Given the description of an element on the screen output the (x, y) to click on. 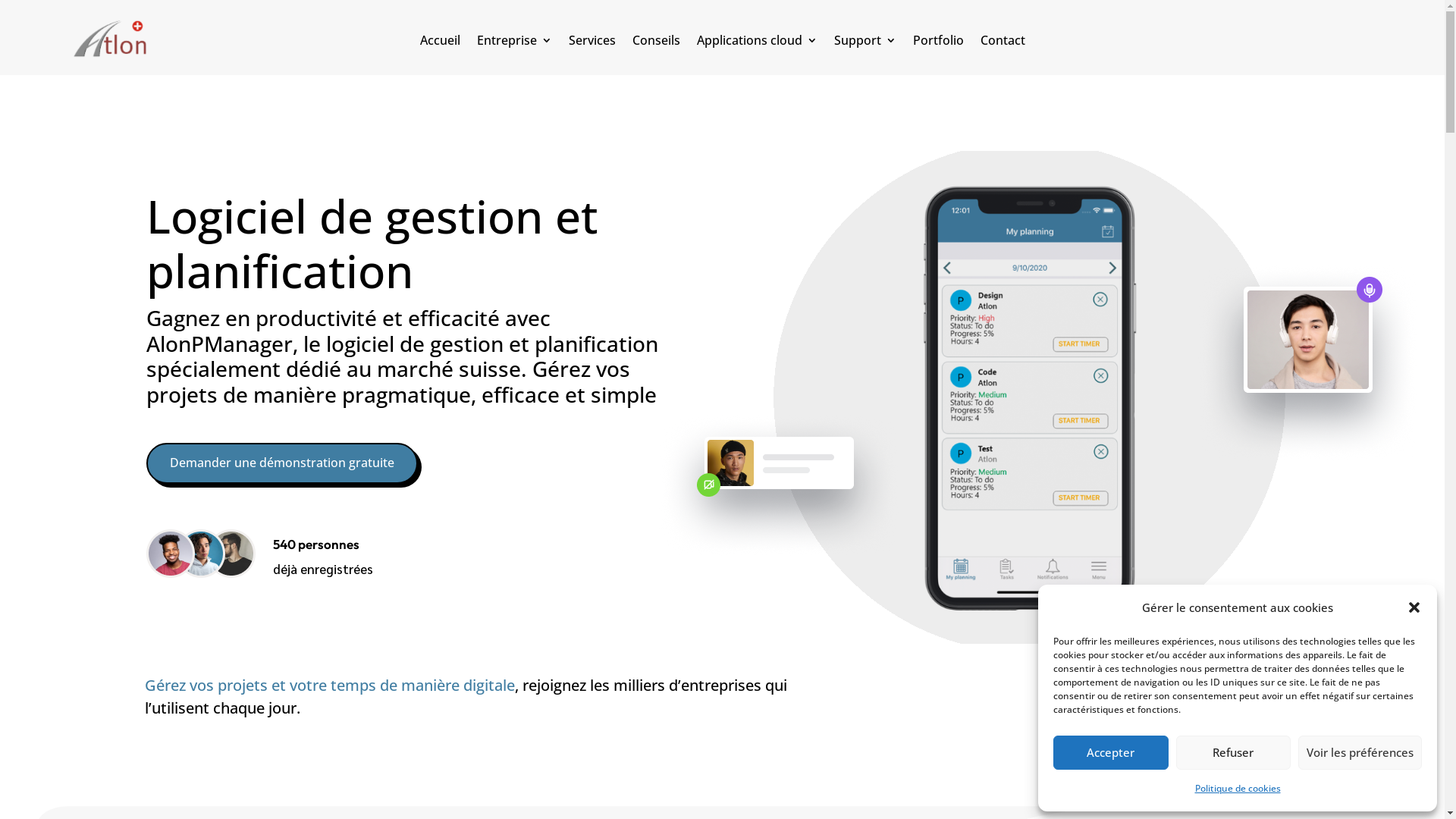
Support Element type: text (865, 42)
Portfolio Element type: text (938, 42)
Entreprise Element type: text (513, 42)
Contact Element type: text (1001, 42)
Politique de cookies Element type: text (1237, 788)
Conseils Element type: text (656, 42)
Refuser Element type: text (1232, 752)
Accepter Element type: text (1110, 752)
Accueil Element type: text (440, 42)
Services Element type: text (591, 42)
Applications cloud Element type: text (756, 42)
